Given the description of an element on the screen output the (x, y) to click on. 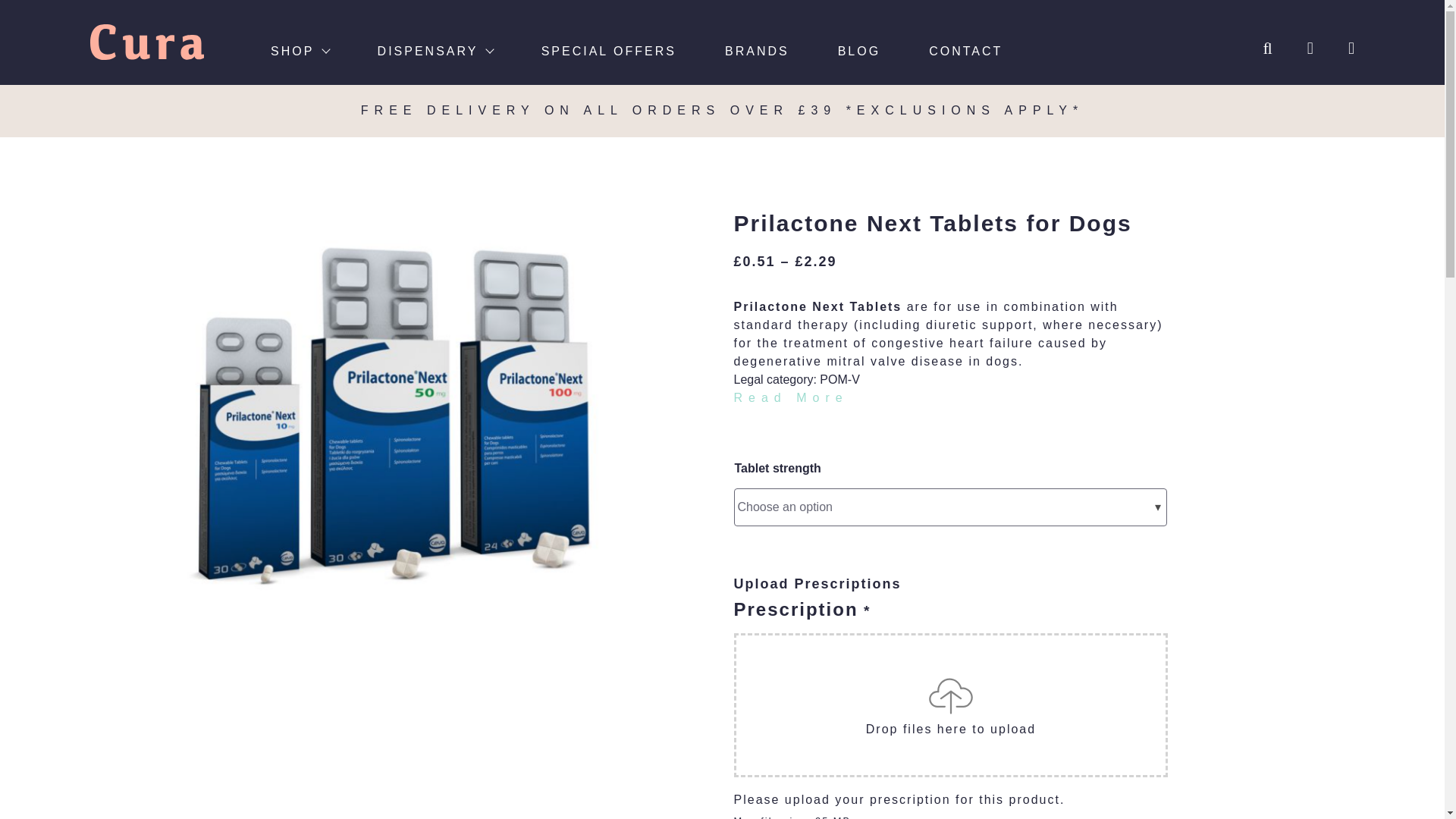
Bag (1335, 47)
SHOP (299, 48)
Cura (146, 42)
Account (1296, 47)
